Given the description of an element on the screen output the (x, y) to click on. 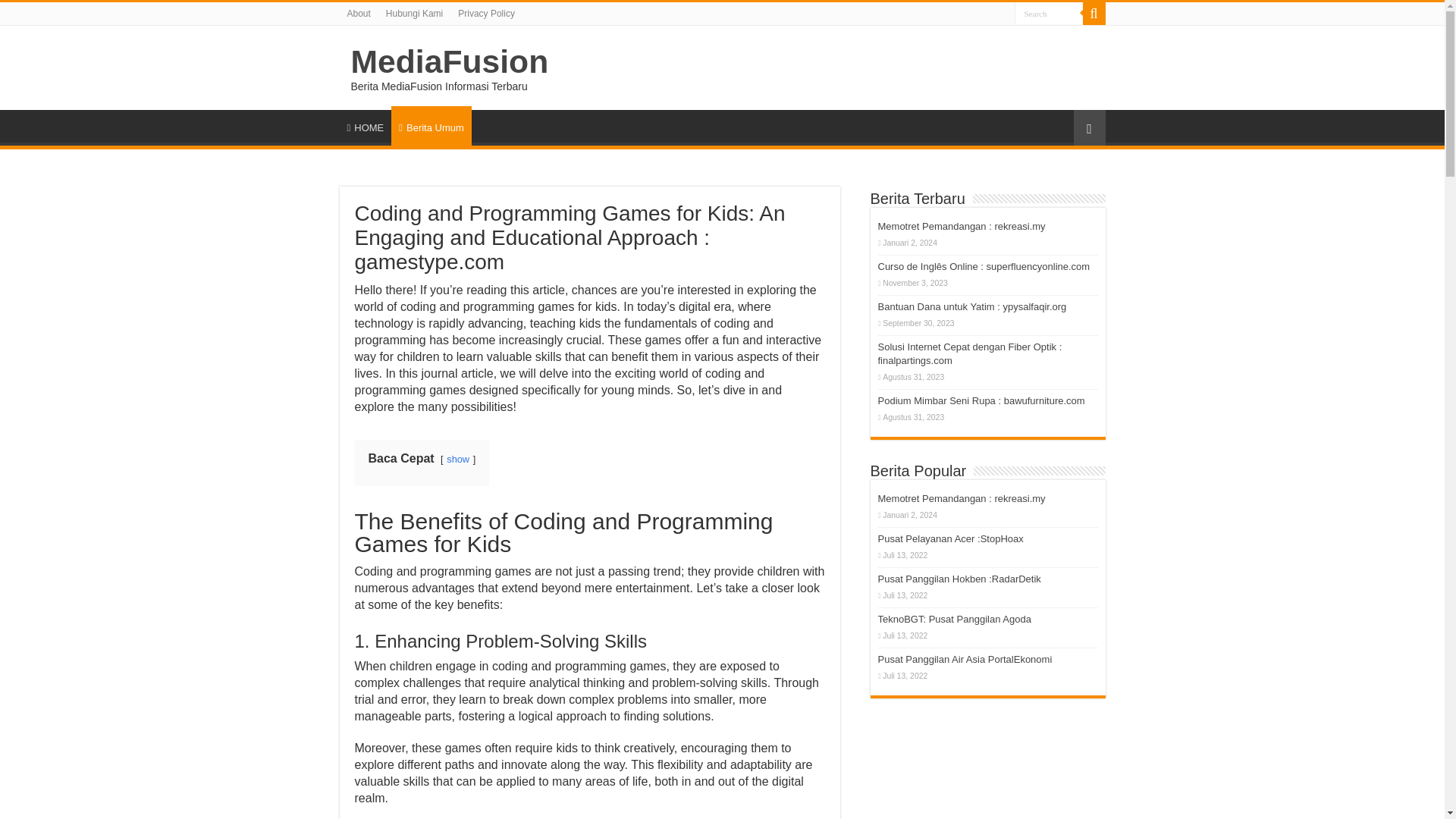
Search (1094, 13)
Privacy Policy (485, 13)
TeknoBGT: Pusat Panggilan Agoda (953, 618)
Memotret Pemandangan : rekreasi.my (961, 225)
Search (1048, 13)
About (358, 13)
show (457, 459)
Podium Mimbar Seni Rupa : bawufurniture.com (980, 400)
Search (1048, 13)
Berita Umum (431, 125)
